Given the description of an element on the screen output the (x, y) to click on. 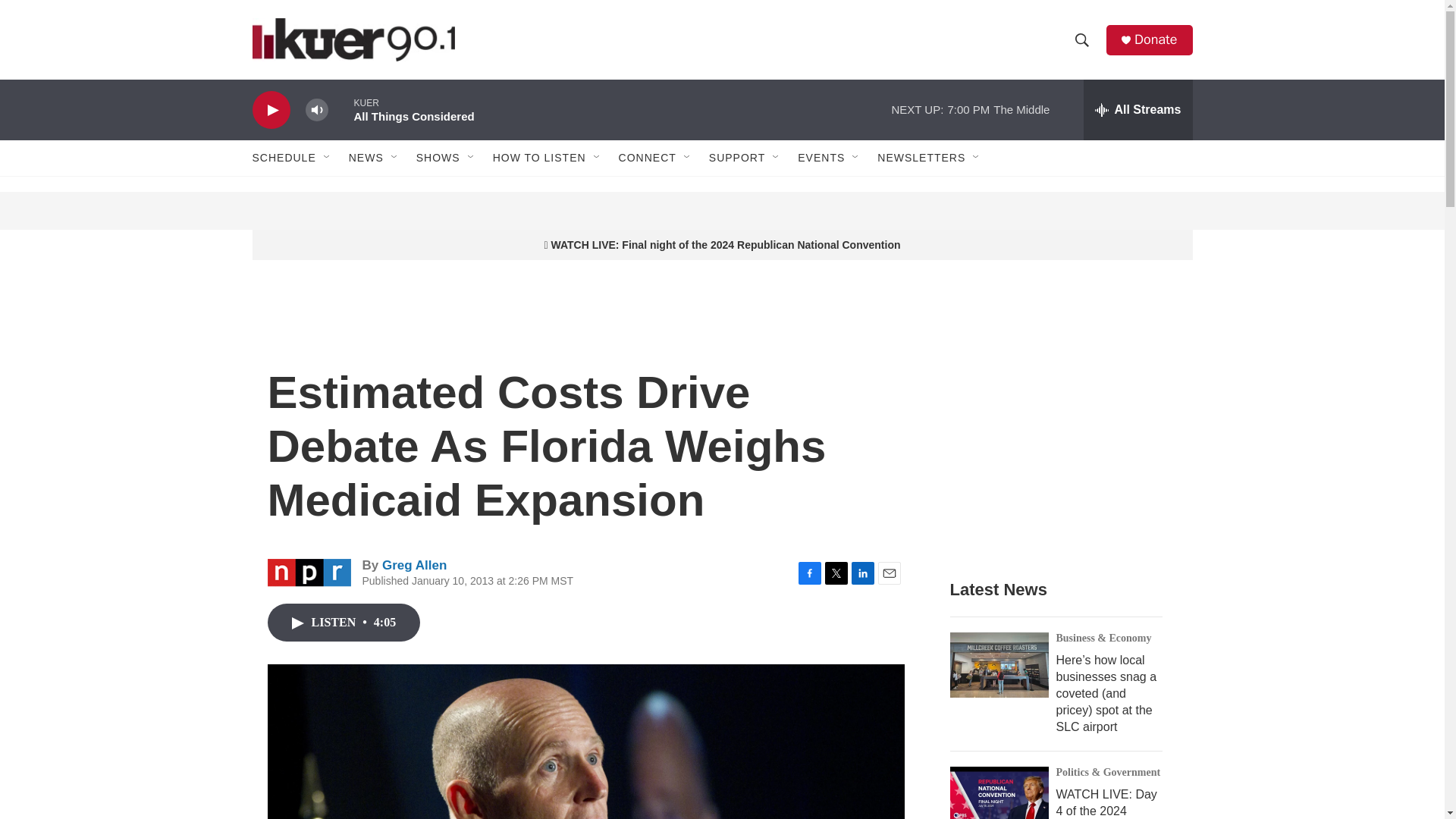
3rd party ad content (722, 210)
3rd party ad content (1062, 434)
